Given the description of an element on the screen output the (x, y) to click on. 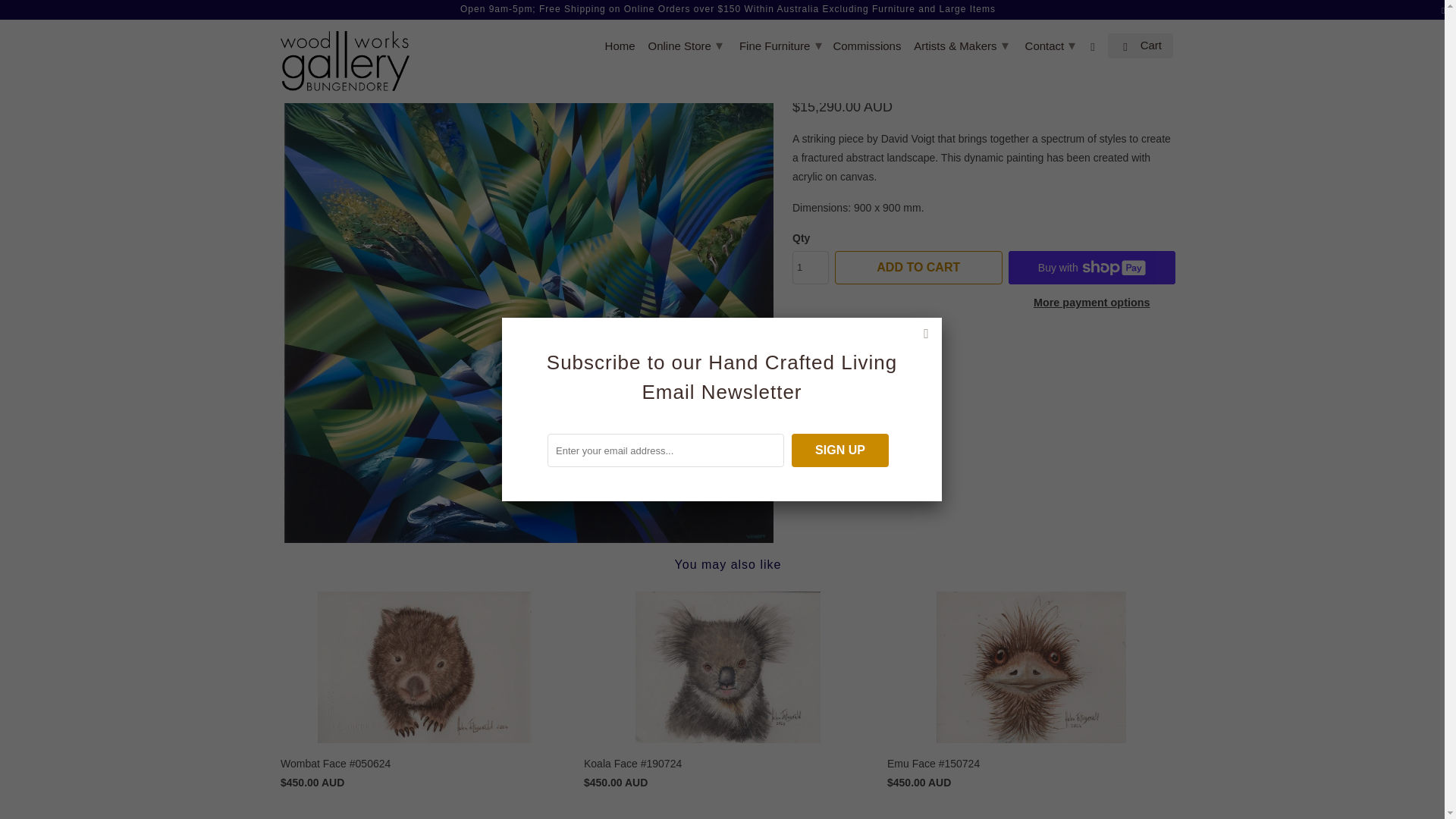
Bungendore Wood Works Gallery (294, 24)
Products (345, 24)
Share this on Twitter (838, 351)
Share this on Facebook (865, 351)
Share this on Pinterest (892, 351)
Email this to a friend (919, 351)
1 (810, 267)
Sign Up (840, 450)
